Given the description of an element on the screen output the (x, y) to click on. 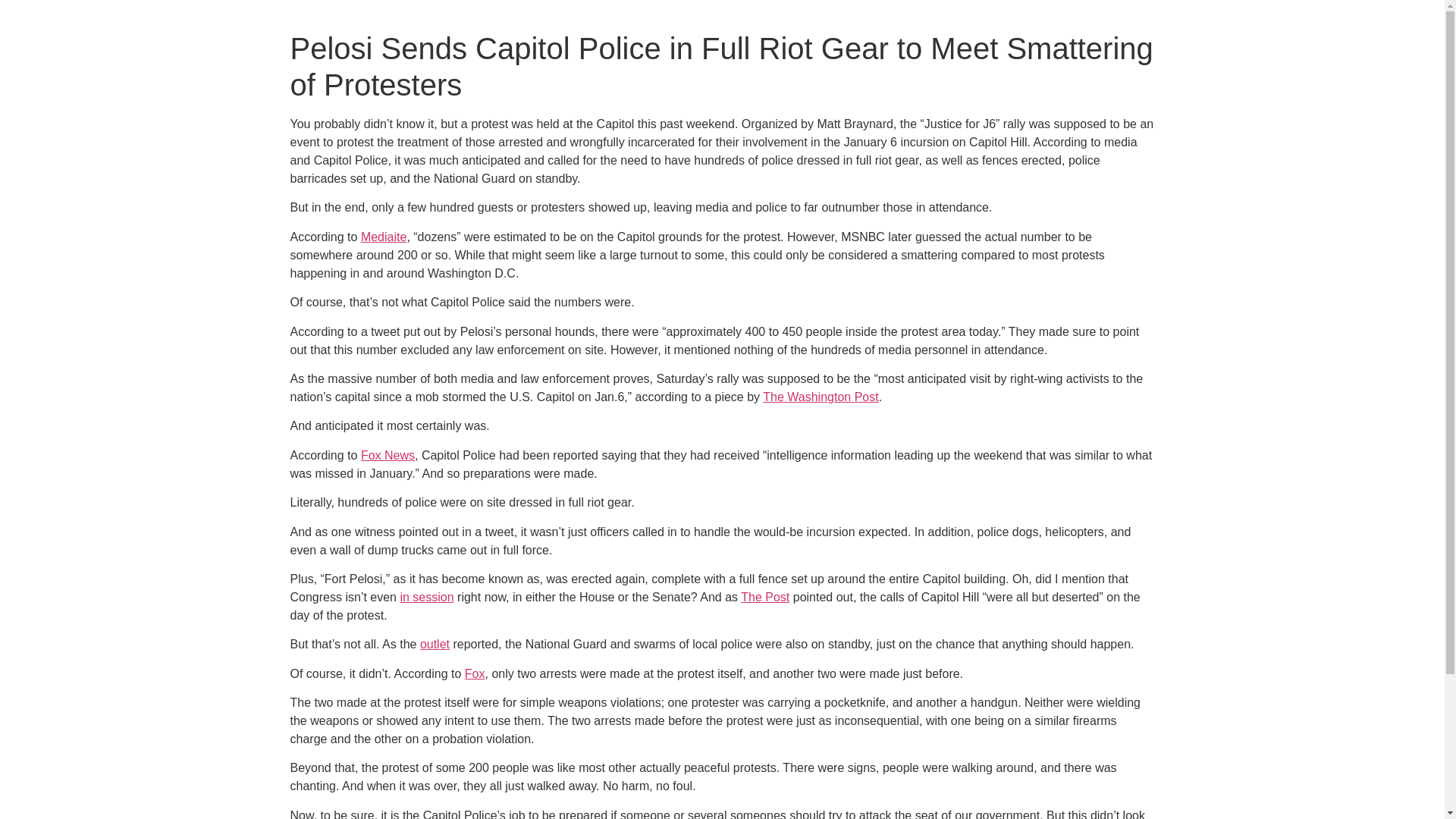
Fox News (387, 454)
Mediaite (383, 236)
in session (425, 596)
outlet (434, 644)
The Post (765, 596)
Fox (474, 673)
The Washington Post (819, 396)
